Given the description of an element on the screen output the (x, y) to click on. 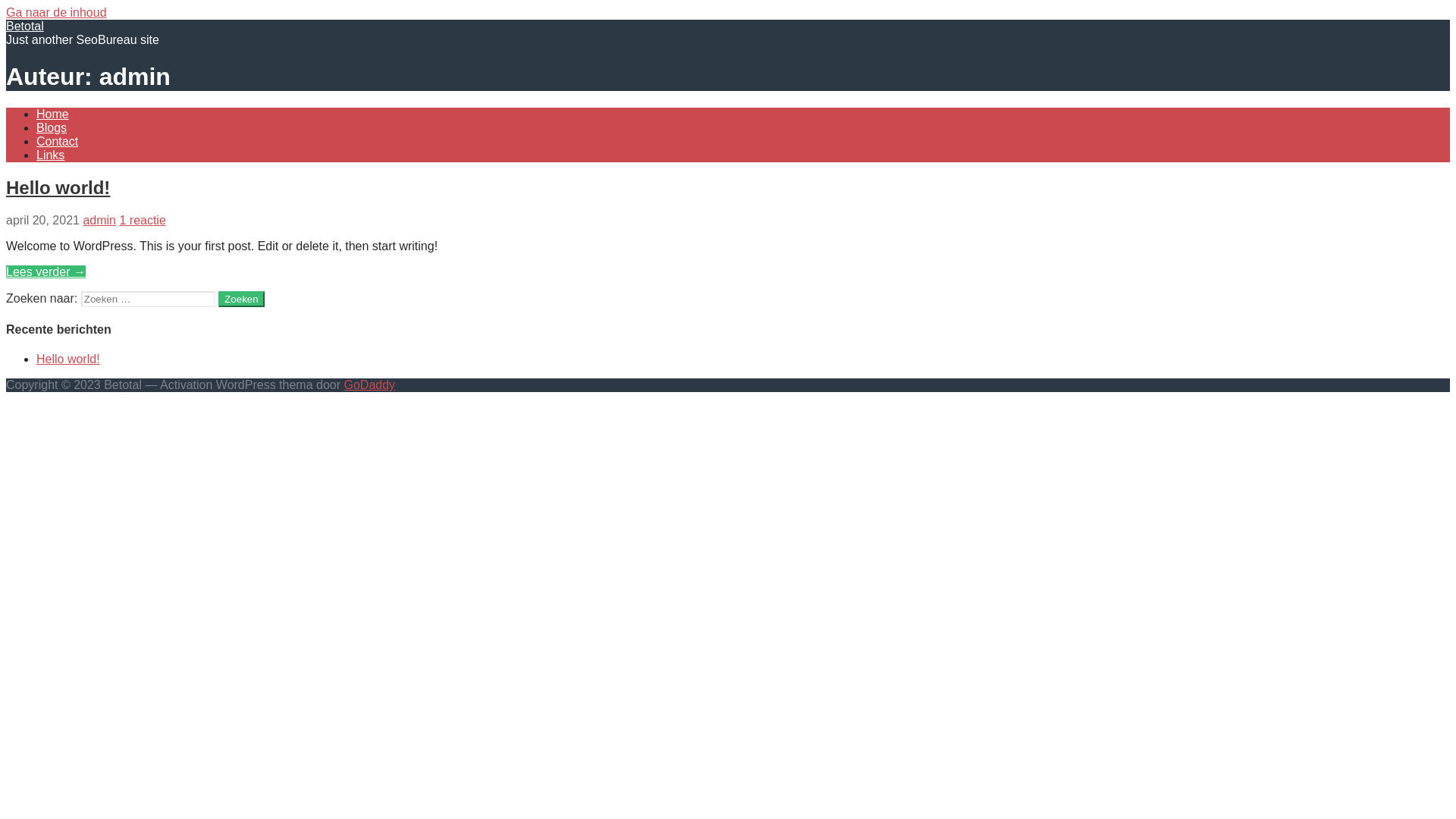
1 reactie Element type: text (142, 219)
Ga naar de inhoud Element type: text (56, 12)
Hello world! Element type: text (57, 187)
Links Element type: text (50, 154)
Contact Element type: text (57, 140)
Hello world! Element type: text (68, 358)
Home Element type: text (52, 113)
admin Element type: text (99, 219)
Betotal Element type: text (24, 25)
Blogs Element type: text (51, 127)
GoDaddy Element type: text (369, 384)
Zoeken Element type: text (240, 299)
